Given the description of an element on the screen output the (x, y) to click on. 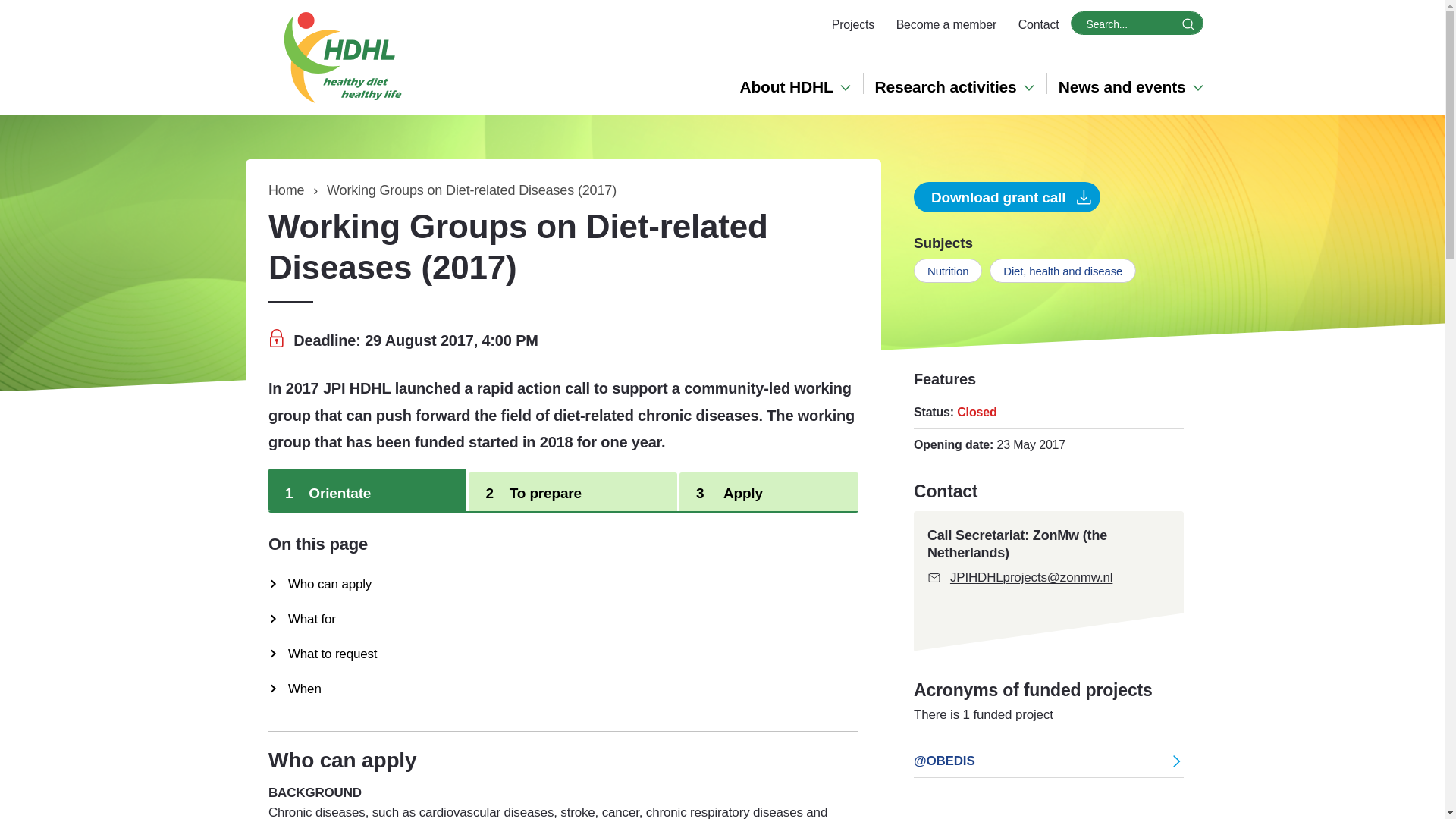
Search (1187, 24)
About HDHL (793, 87)
Become a member (946, 25)
Search (1187, 24)
Contact (1038, 25)
Projects (852, 25)
